Given the description of an element on the screen output the (x, y) to click on. 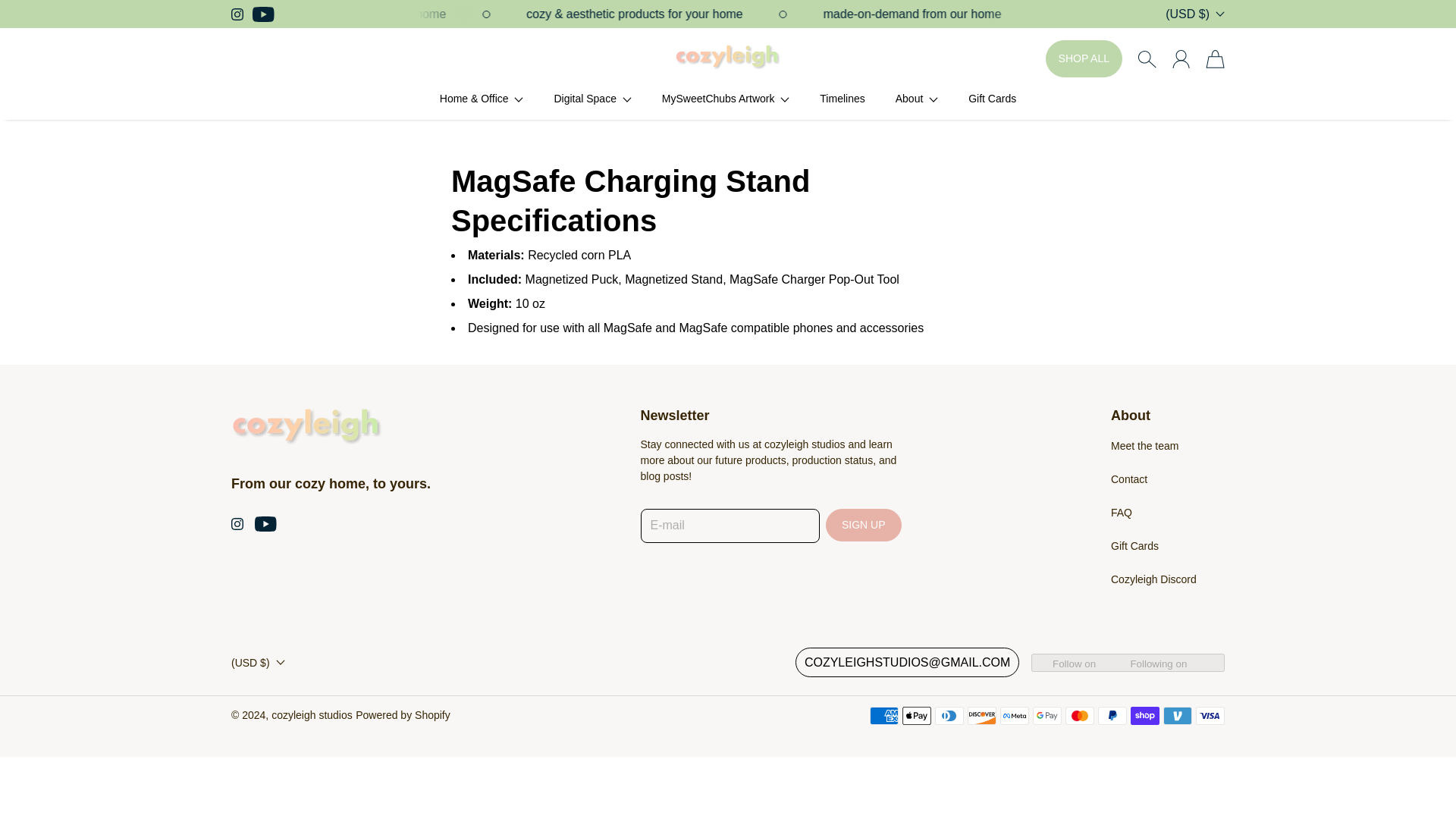
Apple Pay (916, 715)
cozyleigh studios (727, 59)
SHOP ALL (1083, 58)
Google Pay (1046, 715)
Gift Cards (992, 98)
Discover (981, 715)
SKIP TO CONTENT (24, 14)
American Express (883, 715)
Diners Club (948, 715)
Meta Pay (1014, 715)
